Given the description of an element on the screen output the (x, y) to click on. 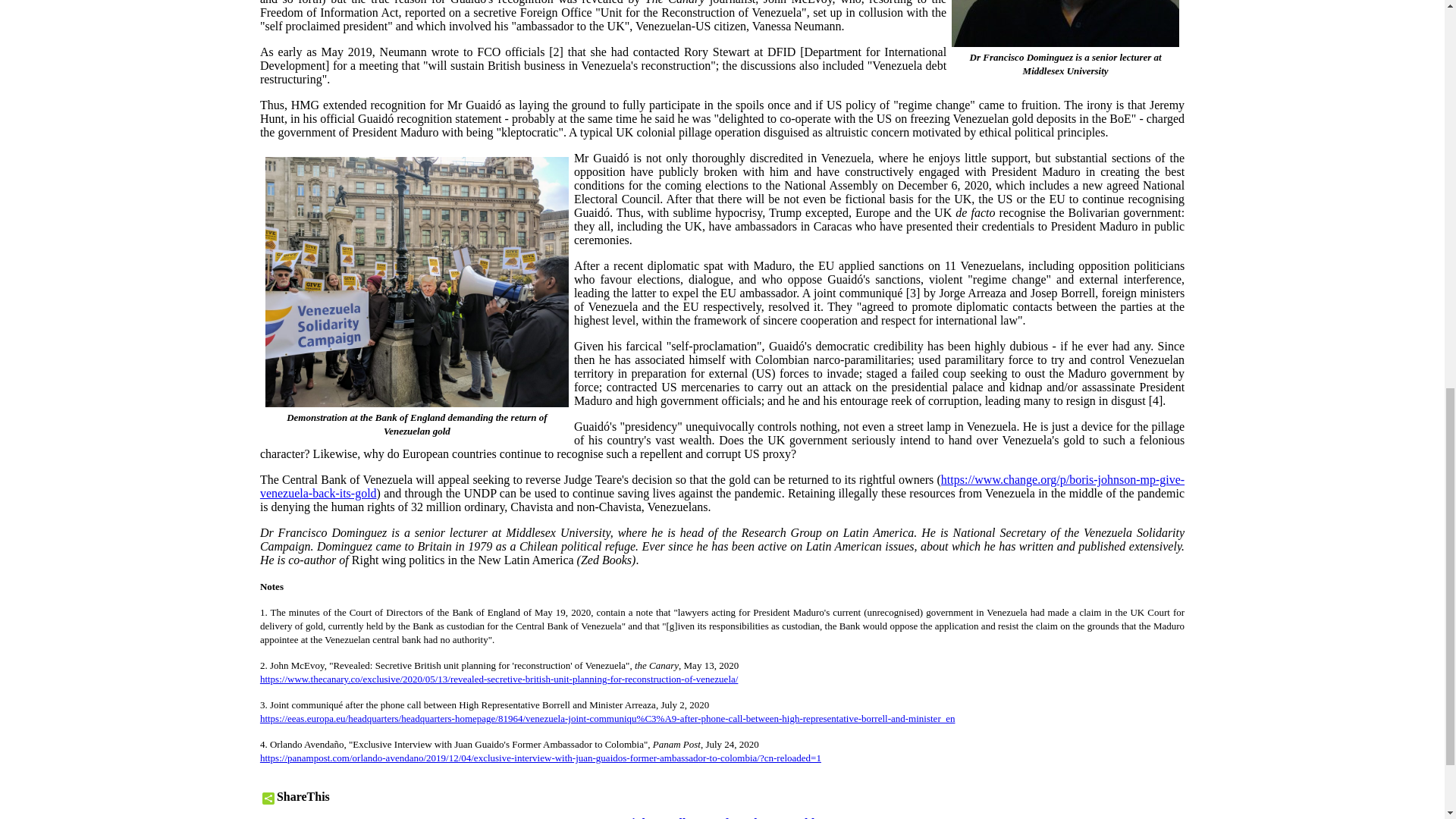
Link to Full Issue of Workers' Weekly (722, 817)
